Given the description of an element on the screen output the (x, y) to click on. 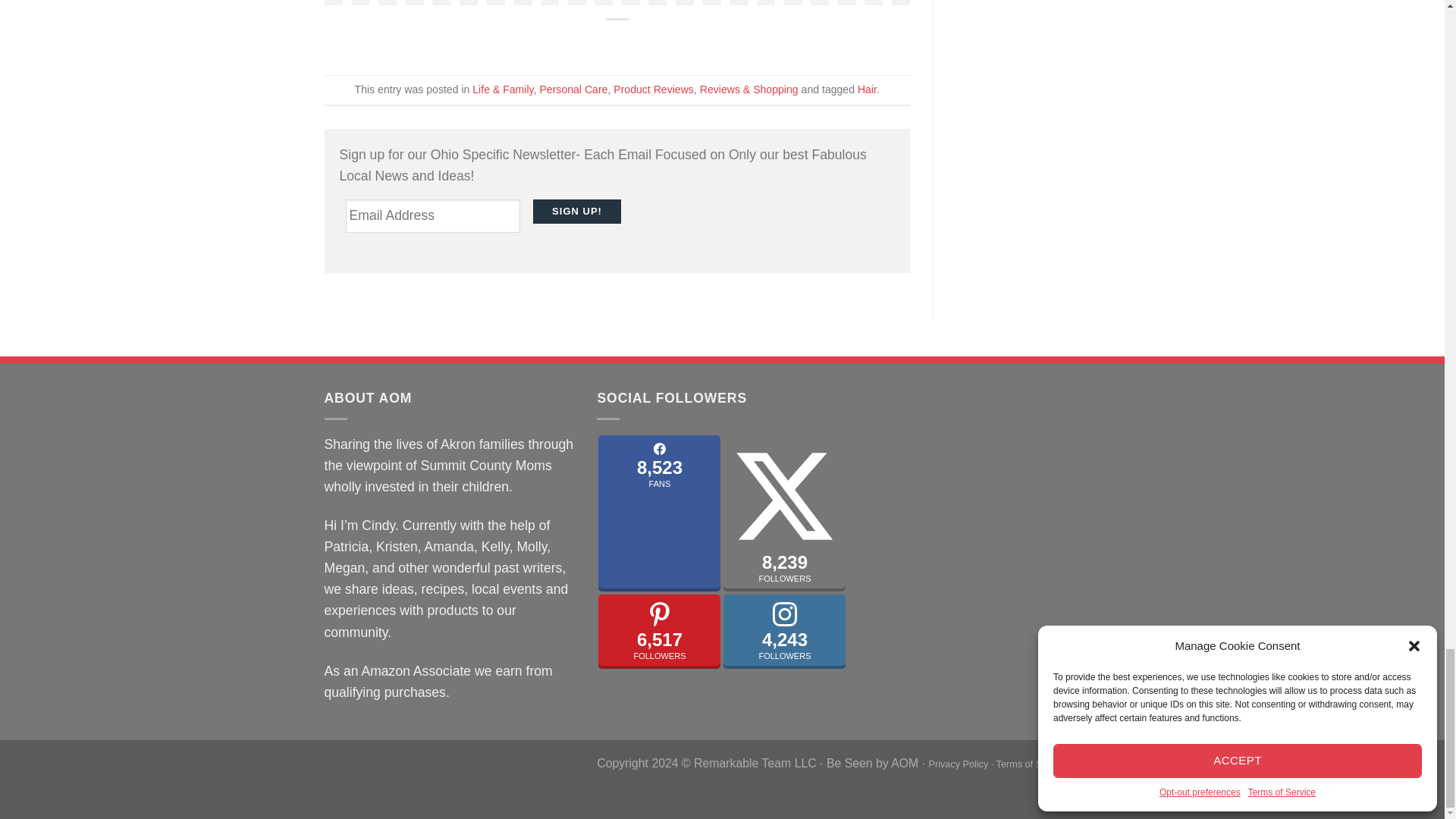
Sign up! (576, 211)
